Given the description of an element on the screen output the (x, y) to click on. 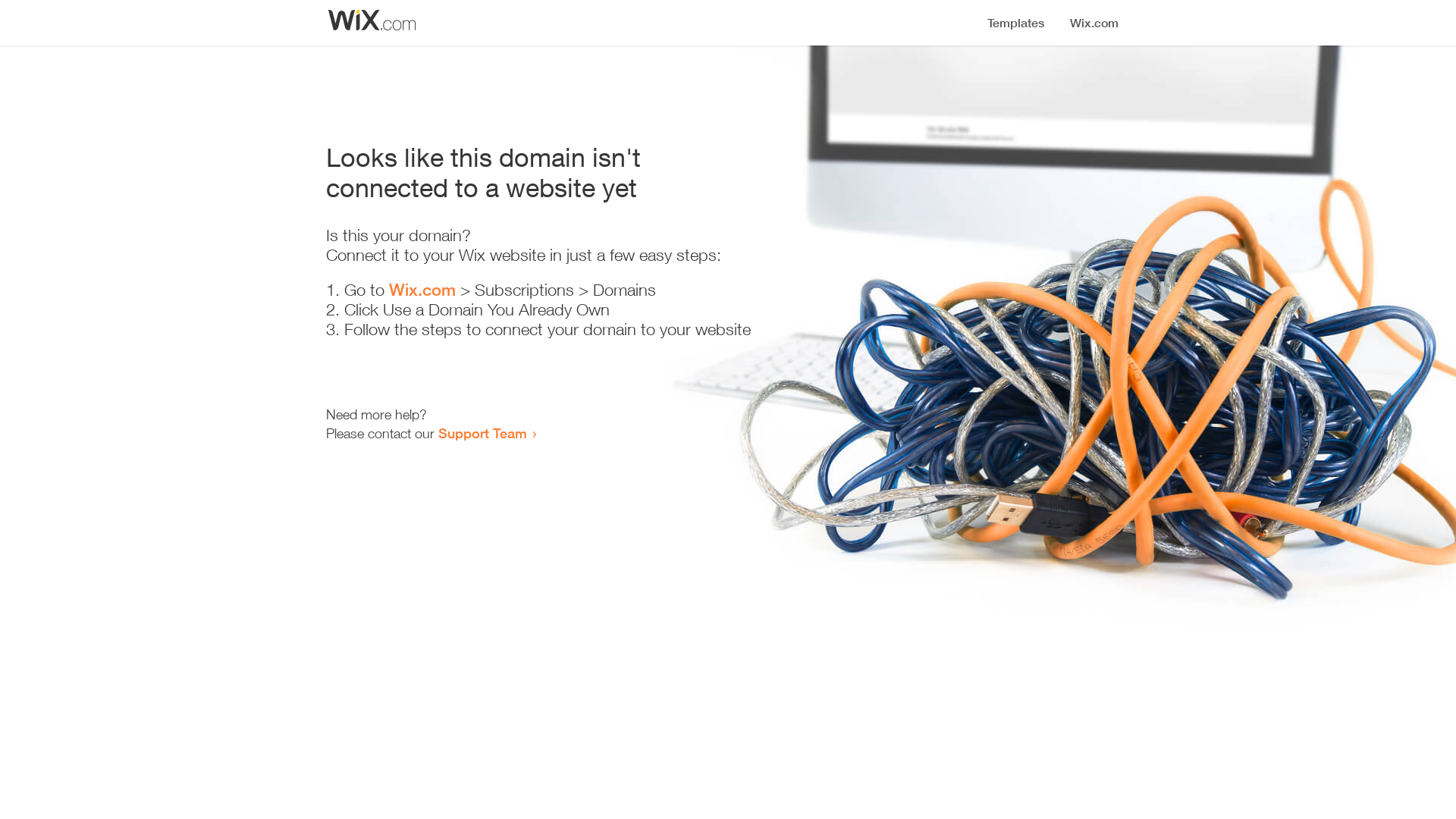
Support Team Element type: text (482, 432)
Wix.com Element type: text (422, 289)
